Given the description of an element on the screen output the (x, y) to click on. 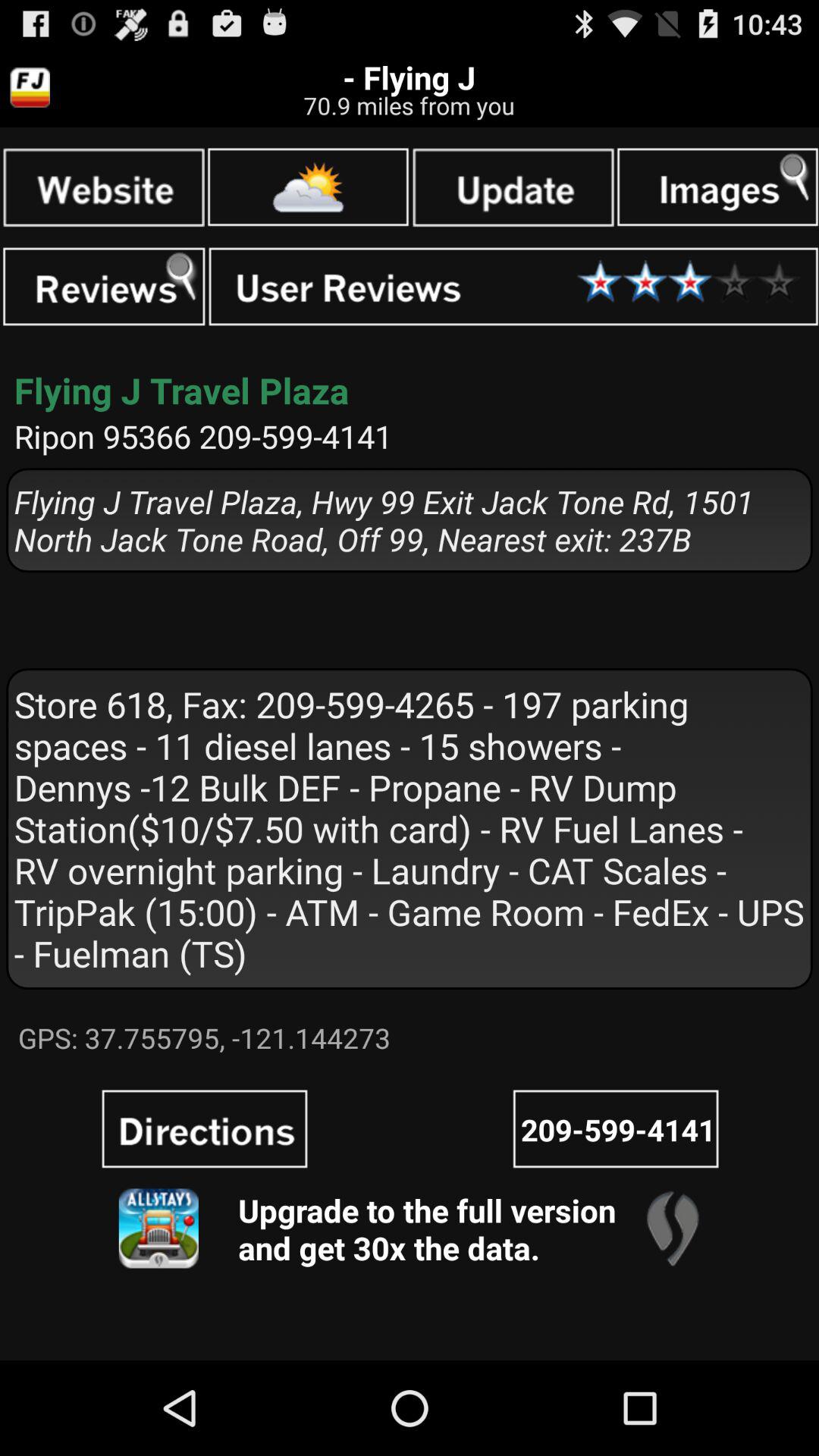
search images (717, 186)
